Given the description of an element on the screen output the (x, y) to click on. 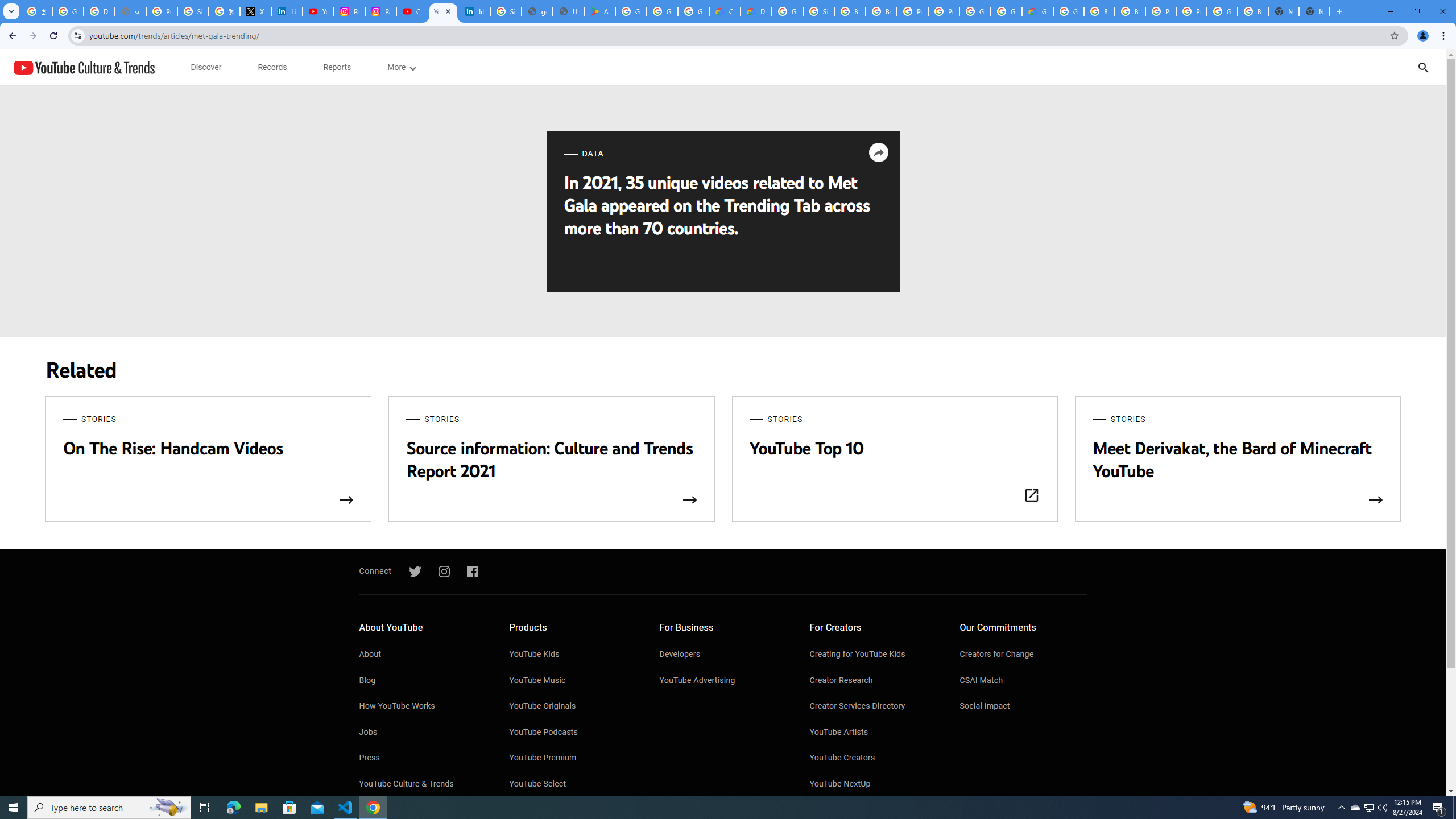
STORIES Source information: Culture and Trends Report 2021 (551, 459)
YouTube Artists (873, 732)
User Details (568, 11)
YouTube NextUp (873, 784)
X (255, 11)
subnav-More menupopup (400, 67)
Android Apps on Google Play (599, 11)
Google Cloud Estimate Summary (1037, 11)
YouTube Podcasts (573, 732)
YouTube Premium (573, 758)
